Given the description of an element on the screen output the (x, y) to click on. 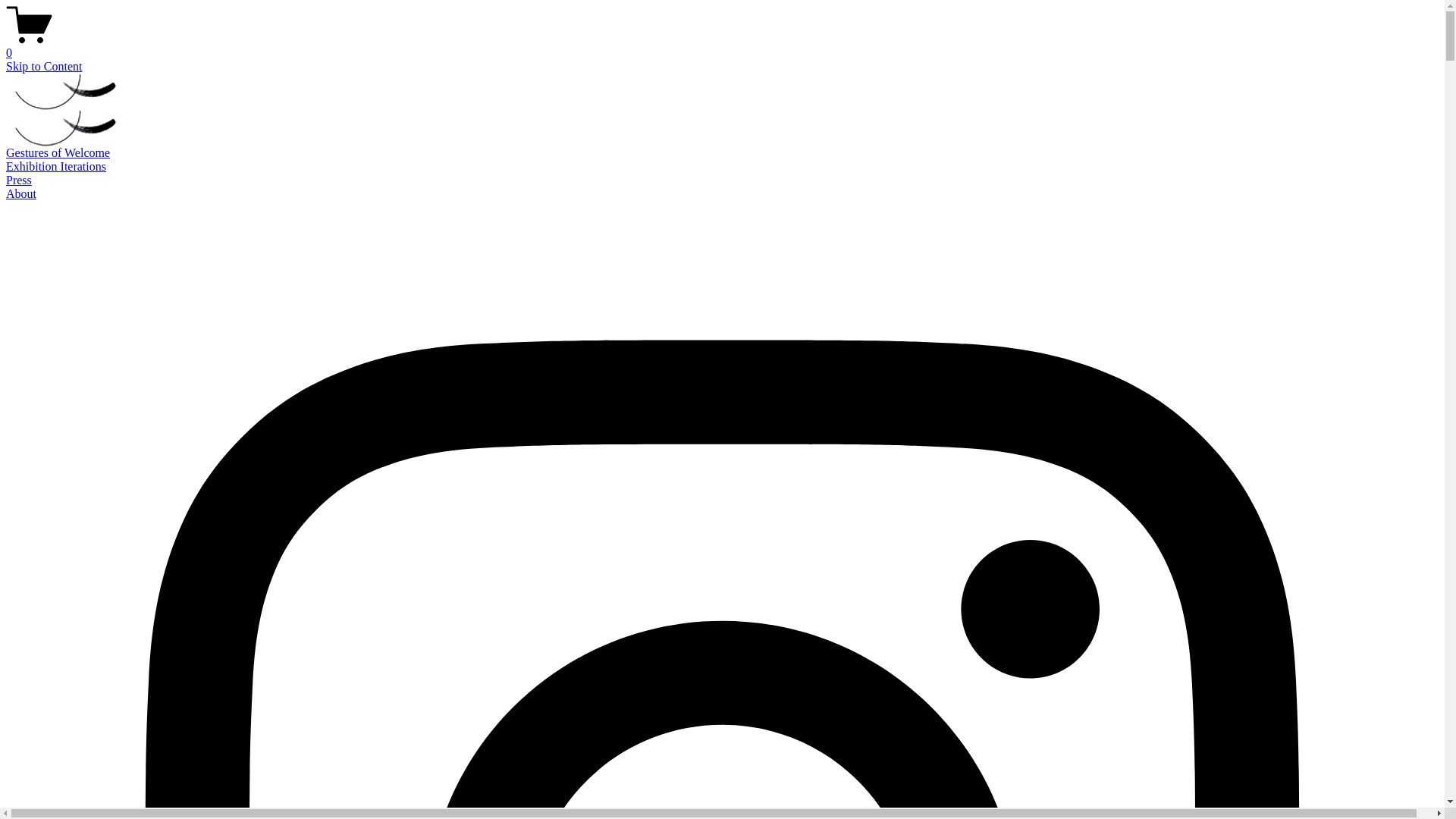
About Element type: text (21, 193)
Skip to Content Element type: text (43, 65)
0 Element type: text (722, 45)
Exhibition Iterations Element type: text (56, 166)
Press Element type: text (18, 179)
Gestures of Welcome Element type: text (57, 152)
